Given the description of an element on the screen output the (x, y) to click on. 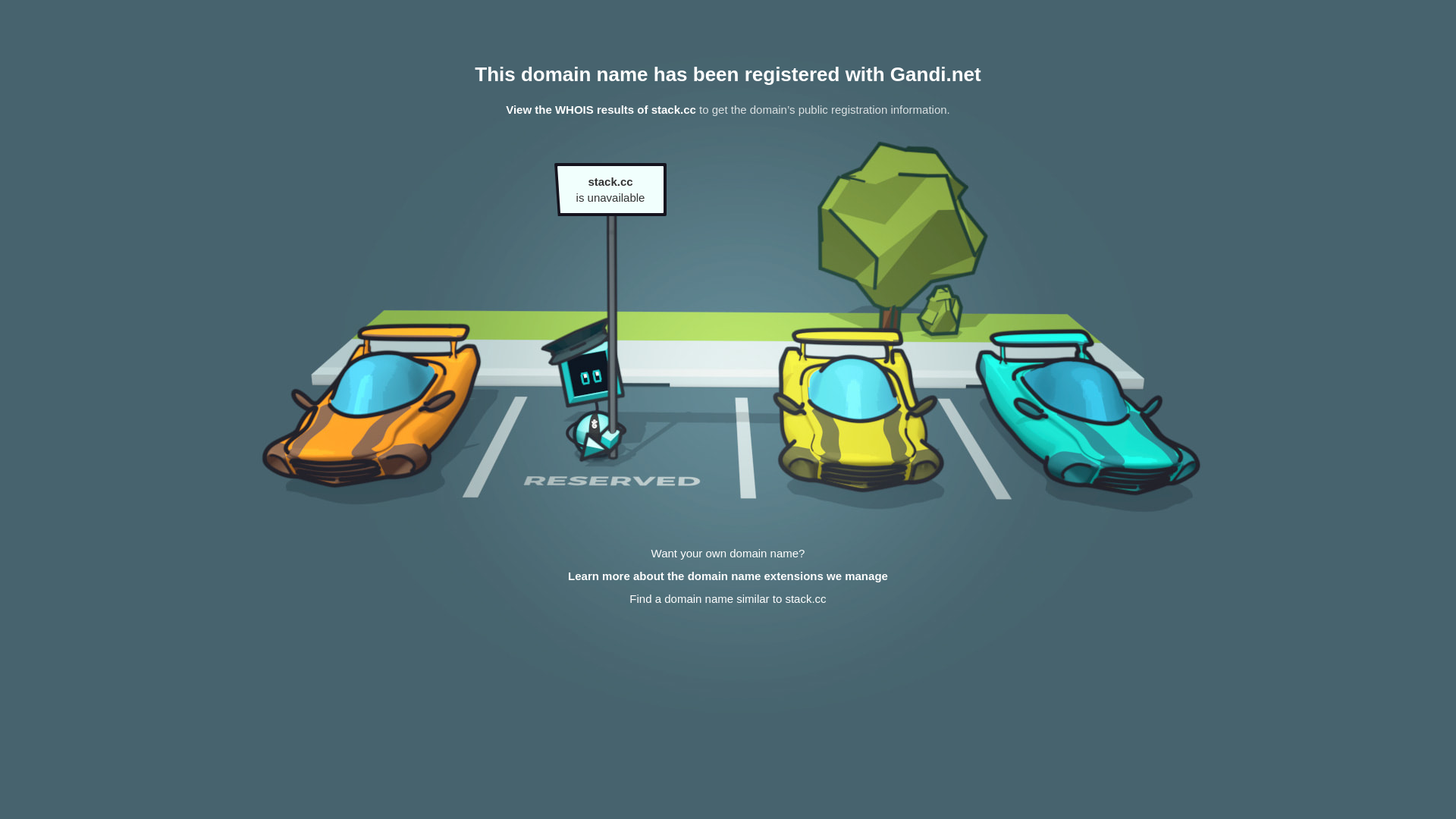
View the WHOIS results of stack.cc Element type: text (600, 109)
Learn more about the domain name extensions we manage Element type: text (727, 575)
Find a domain name similar to stack.cc Element type: text (727, 598)
